Given the description of an element on the screen output the (x, y) to click on. 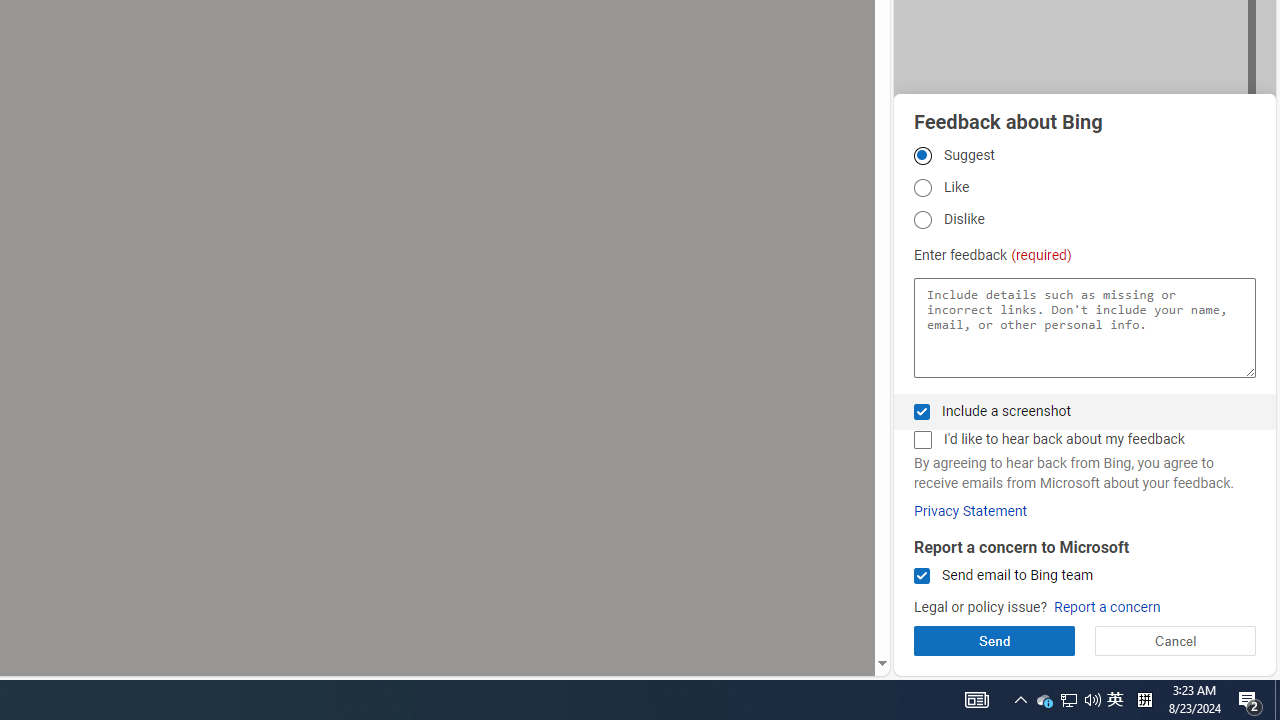
Report a concern (1106, 607)
Send email to Bing team (921, 575)
Send (994, 640)
Cancel (1174, 640)
Privacy Statement (970, 511)
Include a screenshot (921, 411)
Suggest (922, 155)
I'd like to hear back about my feedback (922, 440)
